Given the description of an element on the screen output the (x, y) to click on. 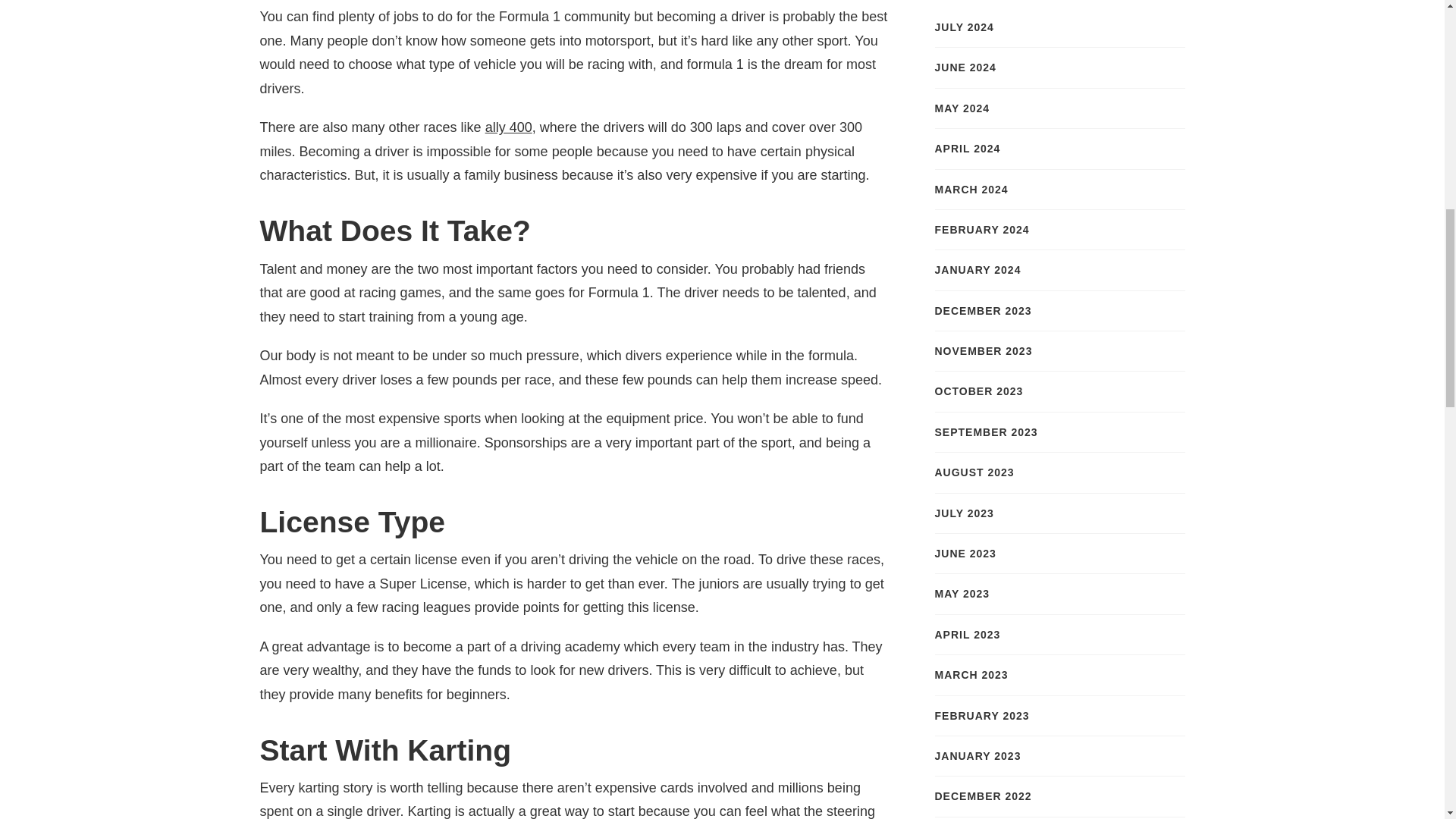
JULY 2024 (963, 27)
MAY 2024 (962, 108)
JUNE 2024 (964, 67)
ally 400 (508, 127)
APRIL 2024 (967, 148)
